Given the description of an element on the screen output the (x, y) to click on. 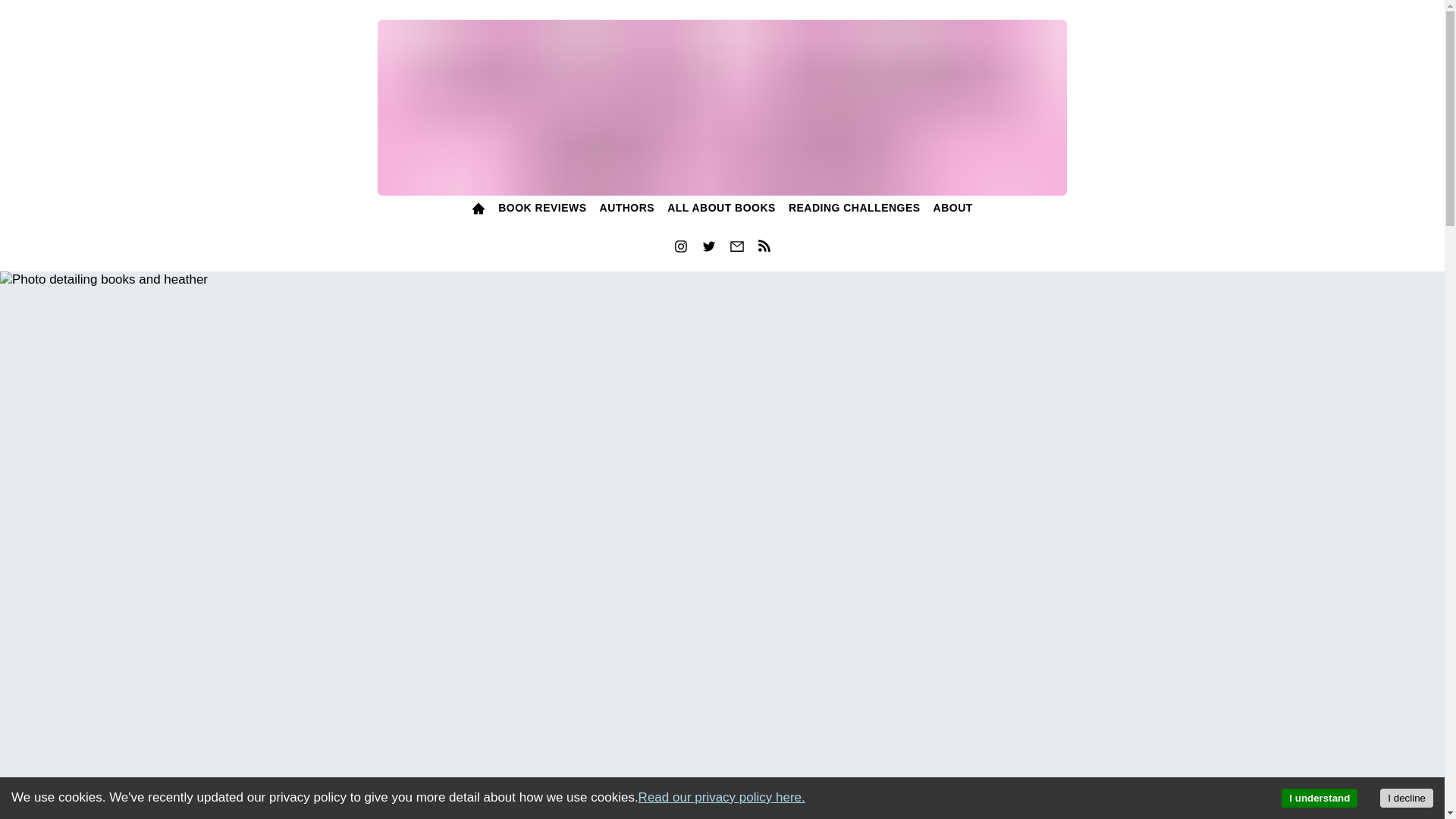
AUTHORS (626, 208)
READING CHALLENGES (853, 208)
ABOUT (952, 208)
BOOK REVIEWS (542, 208)
ALL ABOUT BOOKS (722, 208)
